Given the description of an element on the screen output the (x, y) to click on. 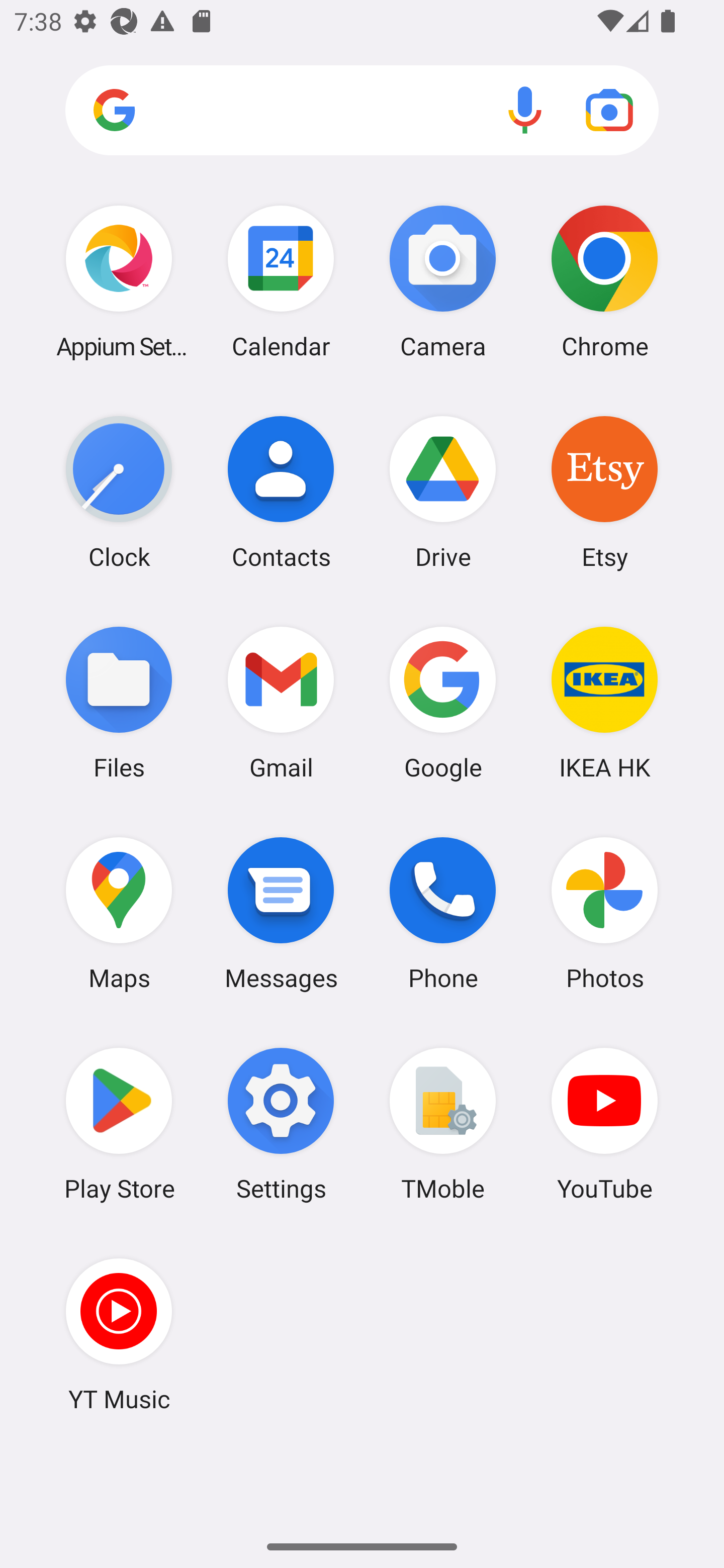
Search apps, web and more (361, 110)
Voice search (524, 109)
Google Lens (608, 109)
Appium Settings (118, 281)
Calendar (280, 281)
Camera (443, 281)
Chrome (604, 281)
Clock (118, 492)
Contacts (280, 492)
Drive (443, 492)
Etsy (604, 492)
Files (118, 702)
Gmail (280, 702)
Google (443, 702)
IKEA HK (604, 702)
Maps (118, 913)
Messages (280, 913)
Phone (443, 913)
Photos (604, 913)
Play Store (118, 1124)
Settings (280, 1124)
TMoble (443, 1124)
YouTube (604, 1124)
YT Music (118, 1334)
